Given the description of an element on the screen output the (x, y) to click on. 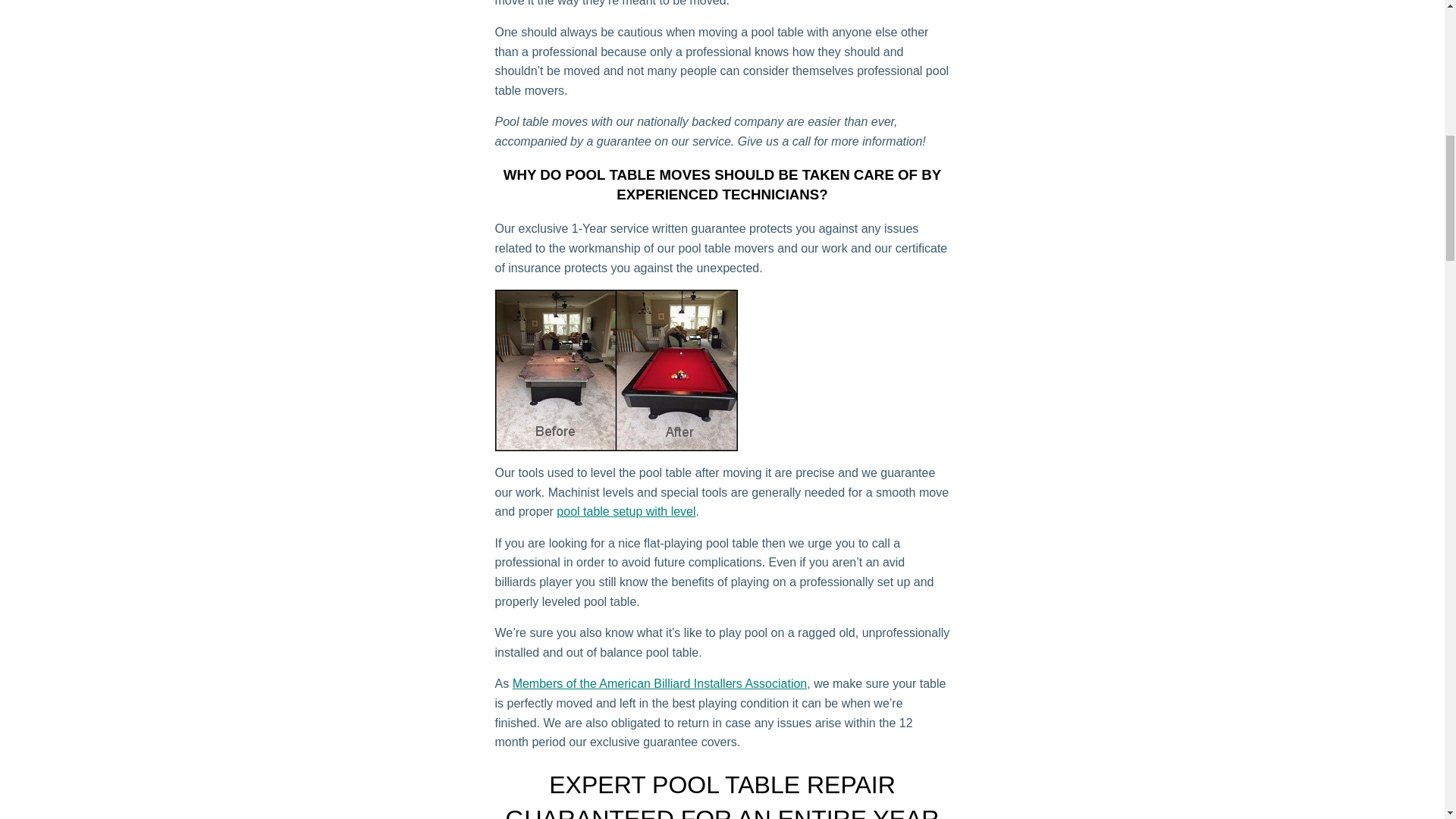
pool table setup with level (625, 511)
Members of the American Billiard Installers Association (660, 683)
